Given the description of an element on the screen output the (x, y) to click on. 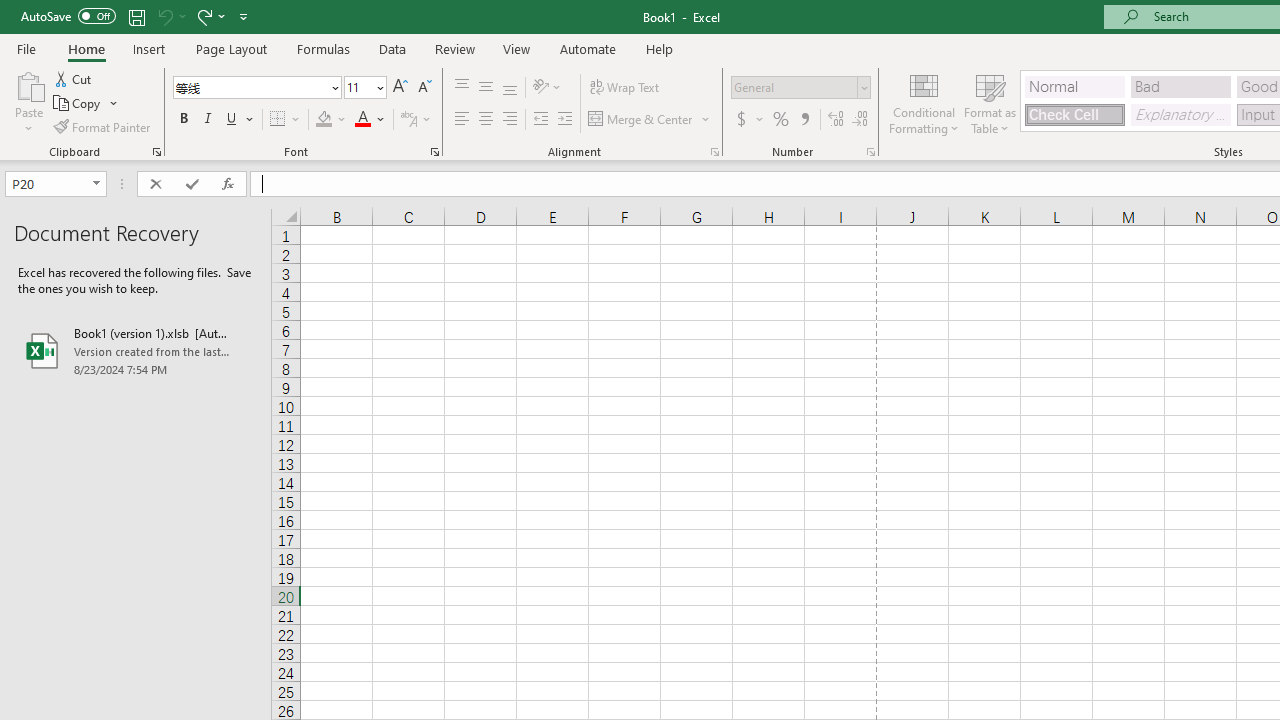
Borders (285, 119)
Italic (207, 119)
Fill Color RGB(255, 255, 0) (324, 119)
Bottom Border (278, 119)
Center (485, 119)
Number Format (794, 87)
Merge & Center (641, 119)
Wrap Text (624, 87)
Format Cell Number (870, 151)
Accounting Number Format (749, 119)
Format as Table (990, 102)
Middle Align (485, 87)
Check Cell (1074, 114)
